Given the description of an element on the screen output the (x, y) to click on. 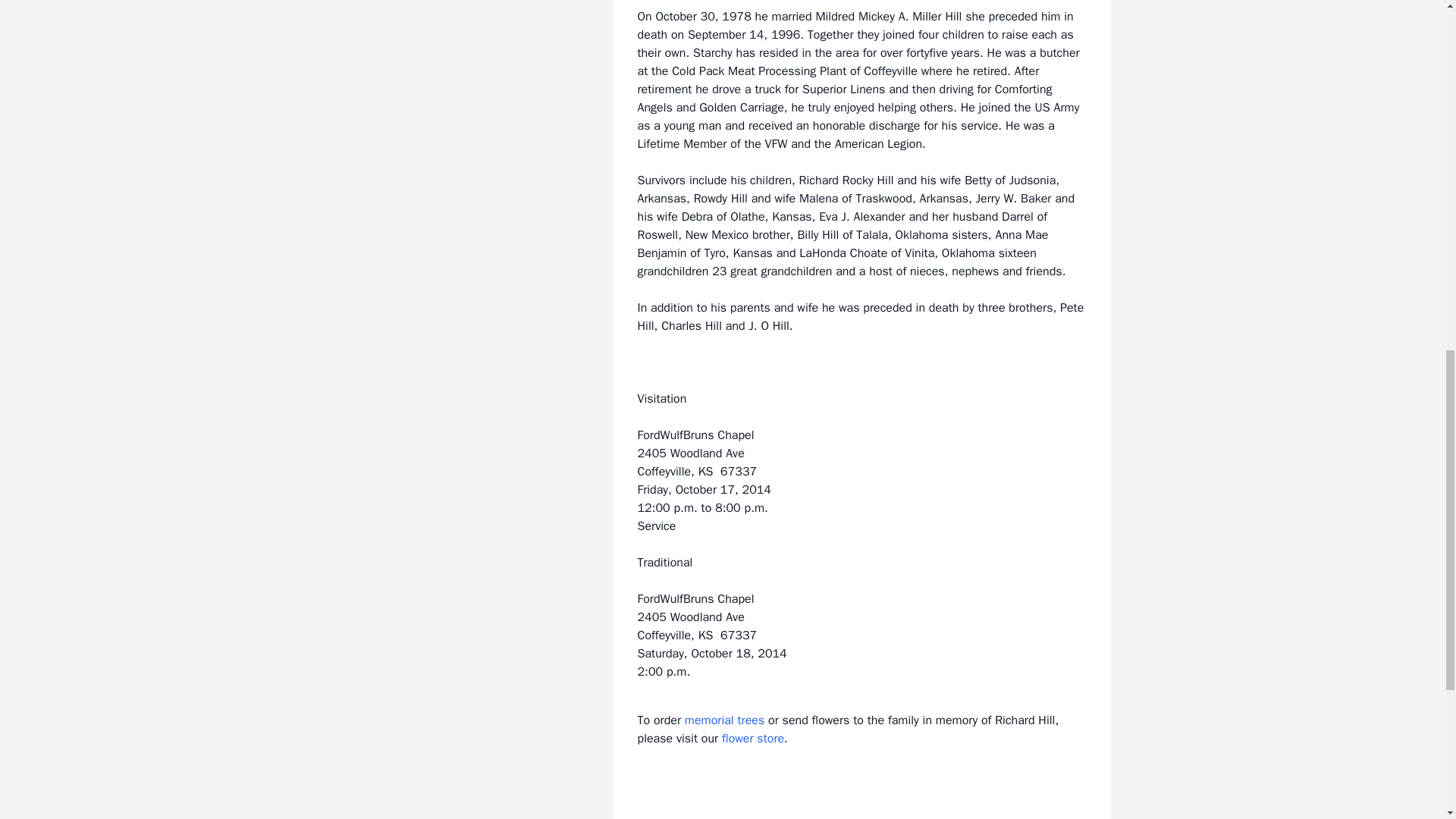
memorial trees (724, 720)
flower store (753, 738)
